Given the description of an element on the screen output the (x, y) to click on. 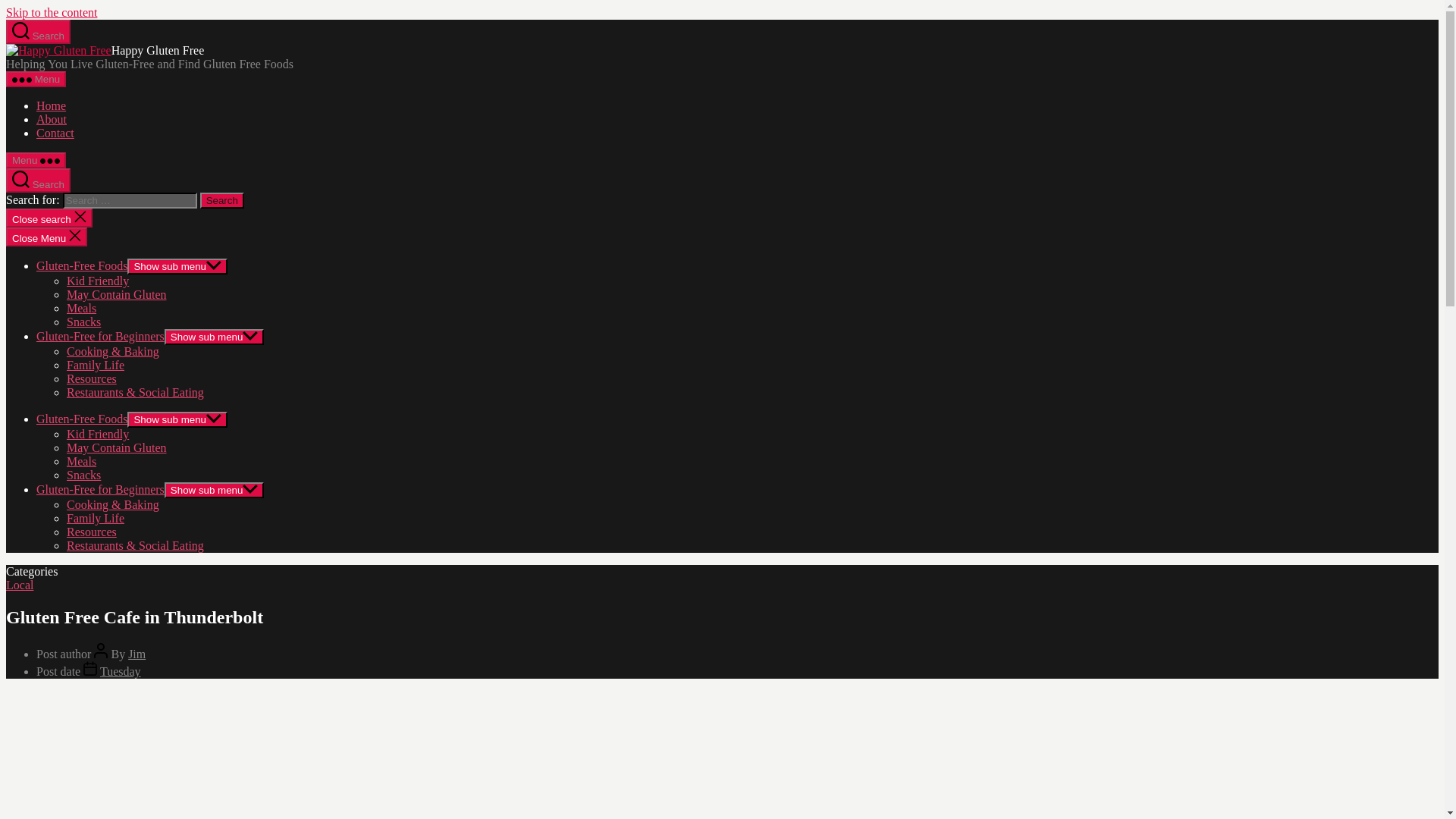
Close Menu (46, 236)
About (51, 119)
Snacks (83, 321)
Resources (91, 378)
Meals (81, 461)
Show sub menu (177, 266)
Search (222, 200)
Home (50, 105)
Skip to the content (51, 11)
Search (222, 200)
Gluten-Free Foods (82, 418)
Menu (35, 160)
Search (222, 200)
Gluten Free Cafe in Thunderbolt (58, 50)
Show sub menu (177, 419)
